Given the description of an element on the screen output the (x, y) to click on. 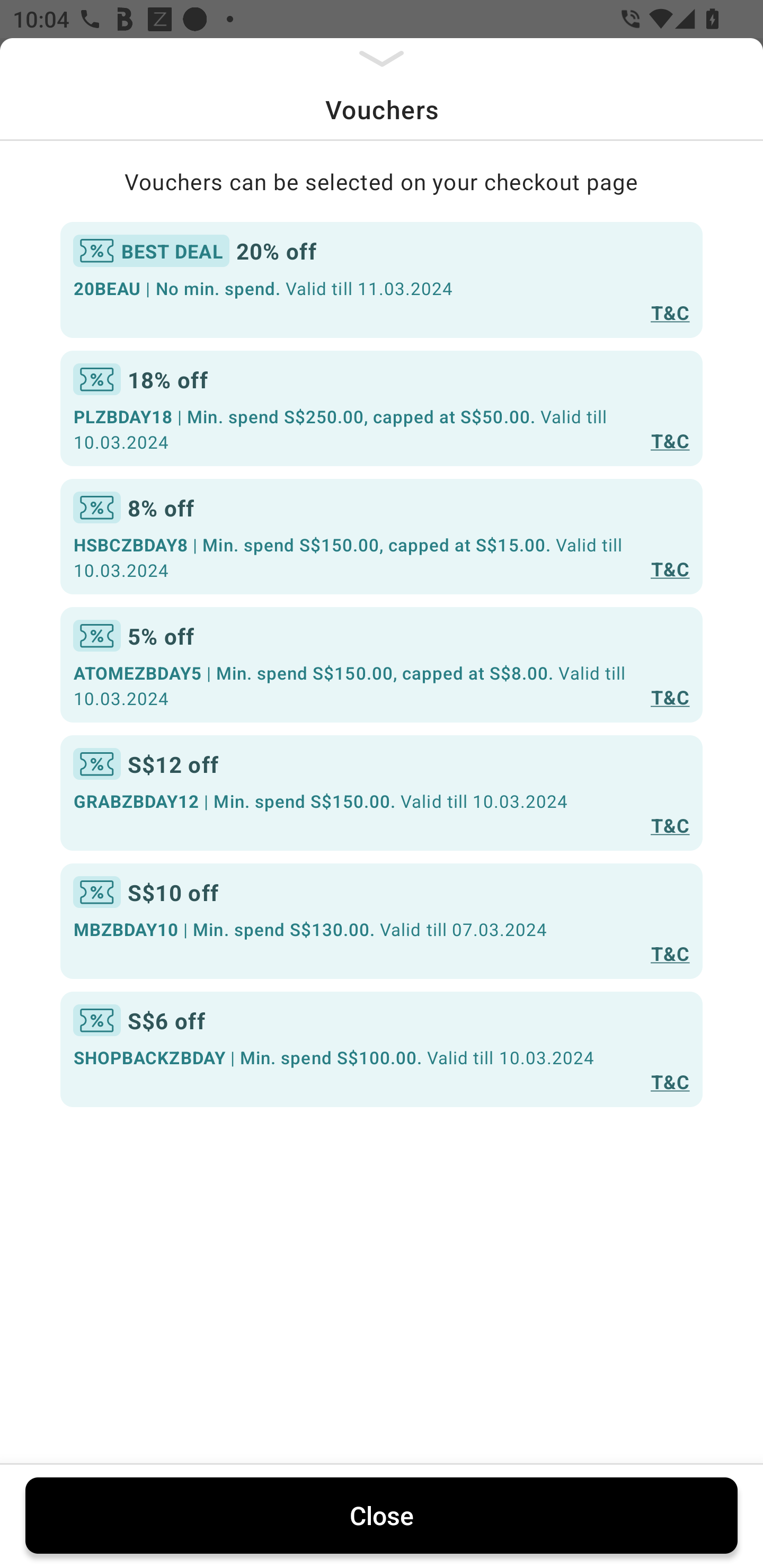
T&C (669, 311)
T&C (669, 440)
T&C (669, 568)
T&C (669, 696)
T&C (669, 824)
T&C (669, 952)
T&C (669, 1080)
Close (381, 1515)
